Given the description of an element on the screen output the (x, y) to click on. 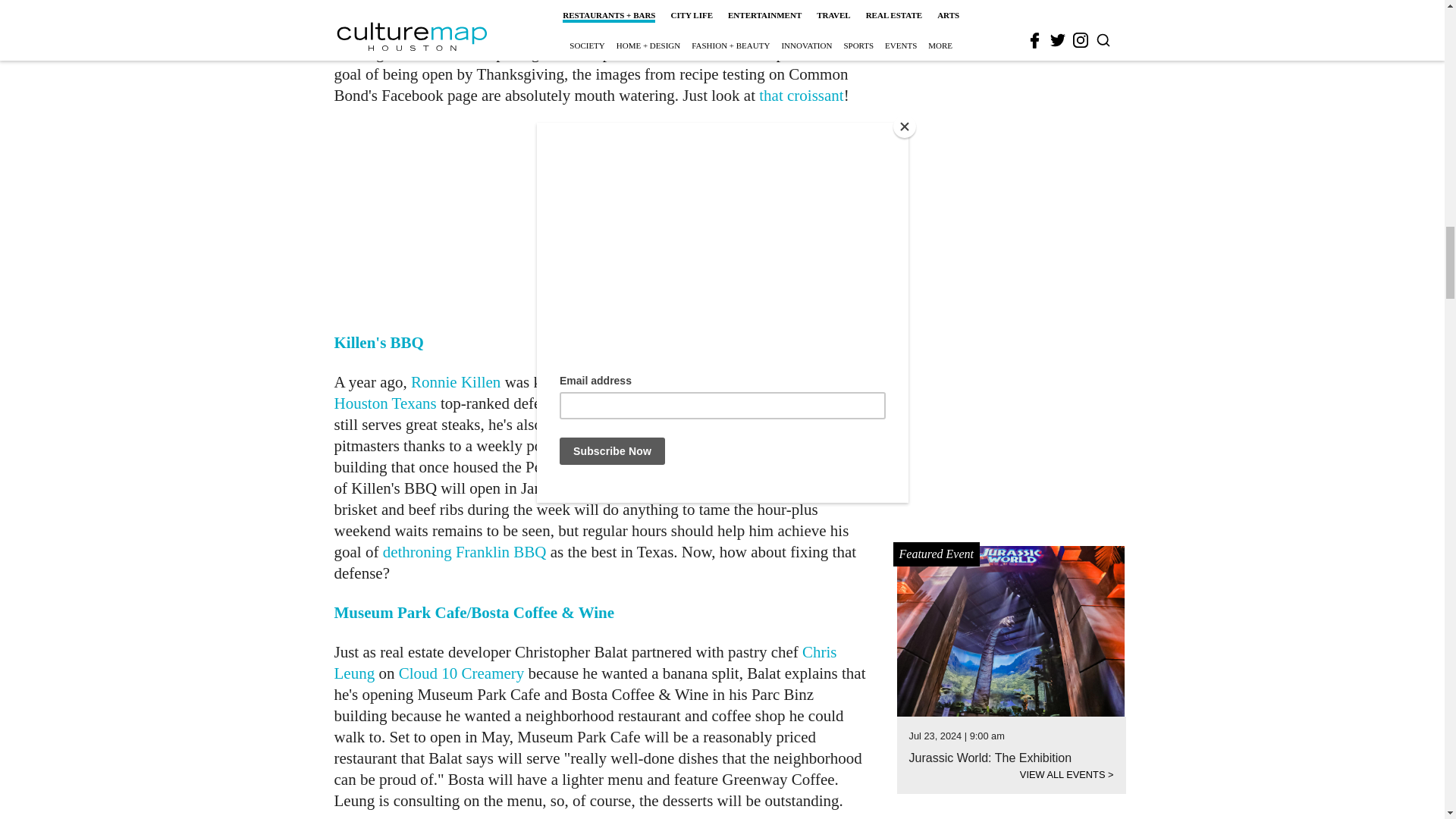
3rd party ad content (600, 218)
